Given the description of an element on the screen output the (x, y) to click on. 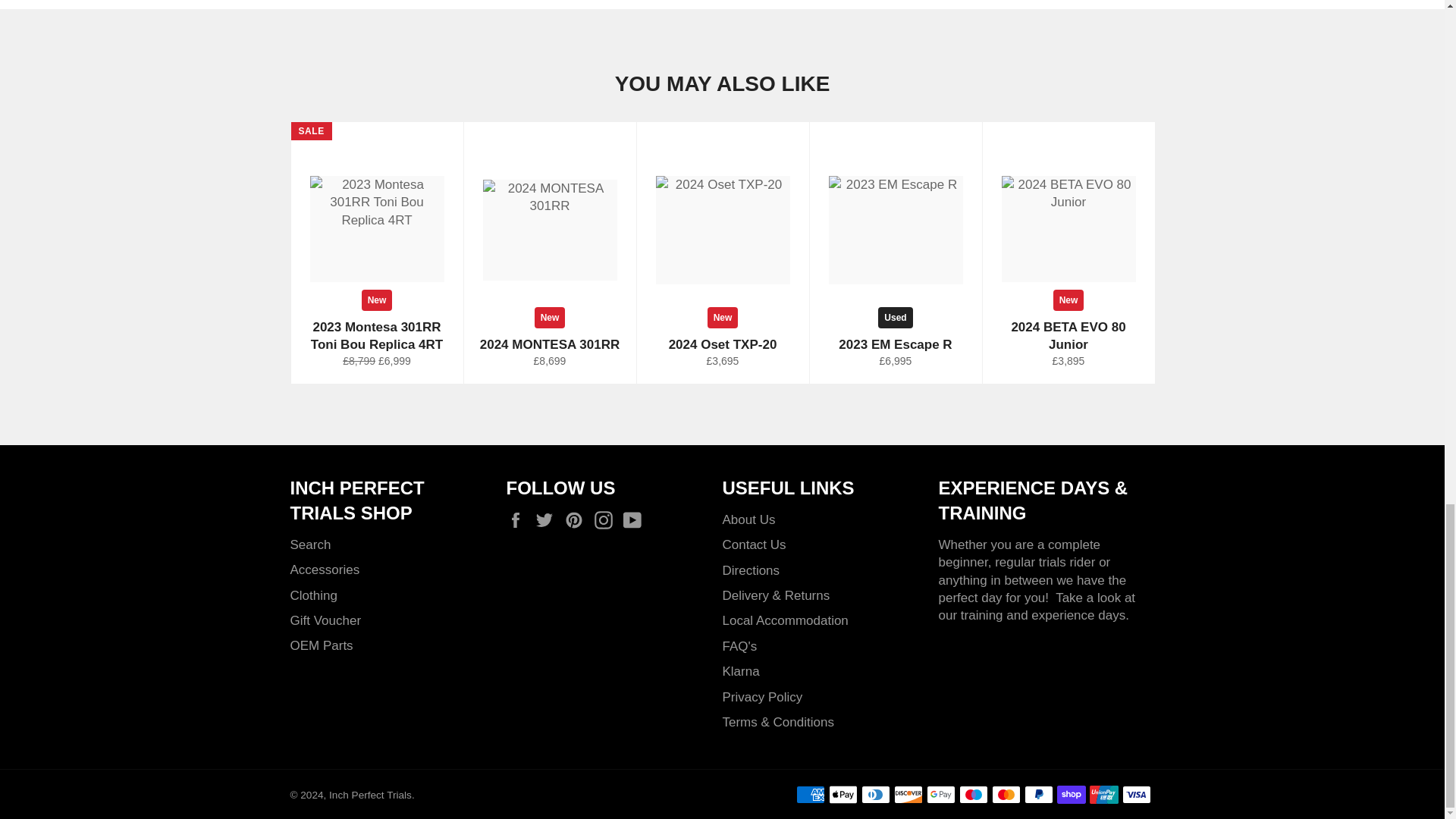
Inch Perfect Trials on Twitter (547, 520)
Inch Perfect Trials on Facebook (519, 520)
Inch Perfect Trials on Instagram (607, 520)
Inch Perfect Trials on Pinterest (577, 520)
Inch Perfect Trials on YouTube (636, 520)
